Given the description of an element on the screen output the (x, y) to click on. 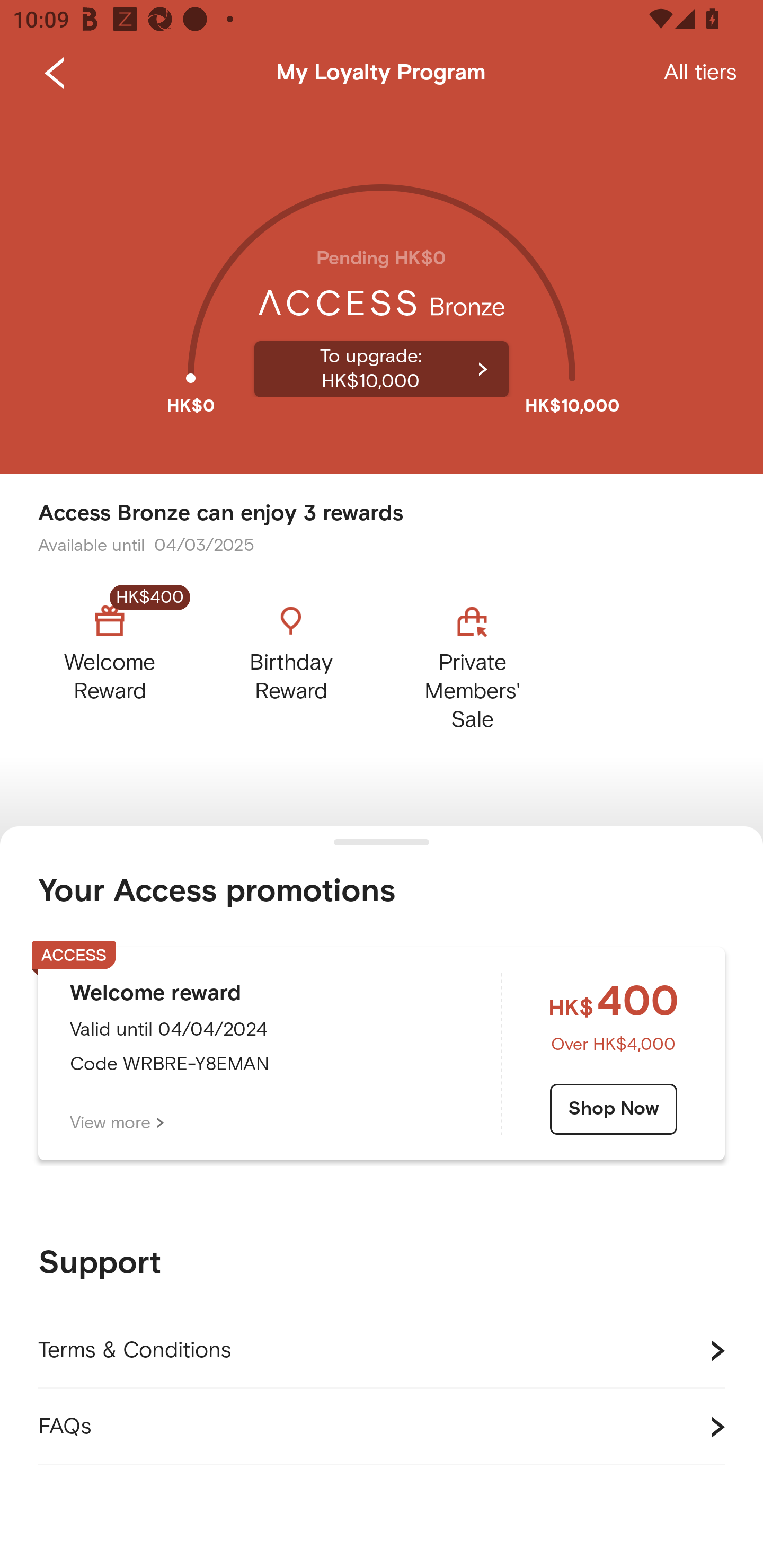
All tiers (700, 72)
HK$0 HK$10,000 Pending HK$0 To upgrade: HK$10,000 (381, 290)
HK$400 Welcome Reward (125, 662)
Birthday Reward (290, 662)
Private Members' Sale (471, 662)
Shop Now (613, 1109)
View more (117, 1123)
Terms & Conditions (381, 1350)
FAQs (381, 1426)
